Given the description of an element on the screen output the (x, y) to click on. 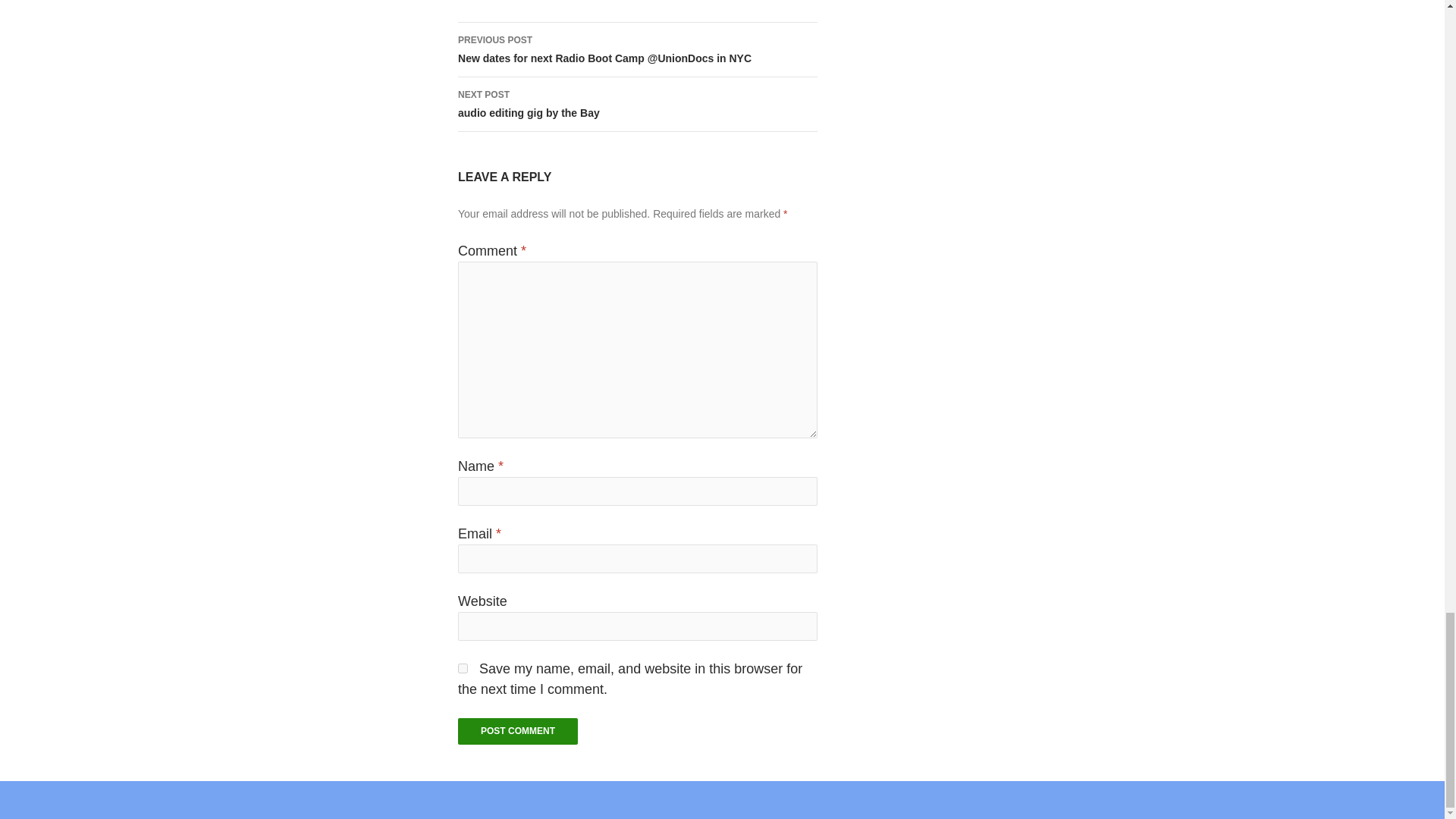
Post Comment (518, 731)
Post Comment (518, 731)
yes (462, 668)
